Given the description of an element on the screen output the (x, y) to click on. 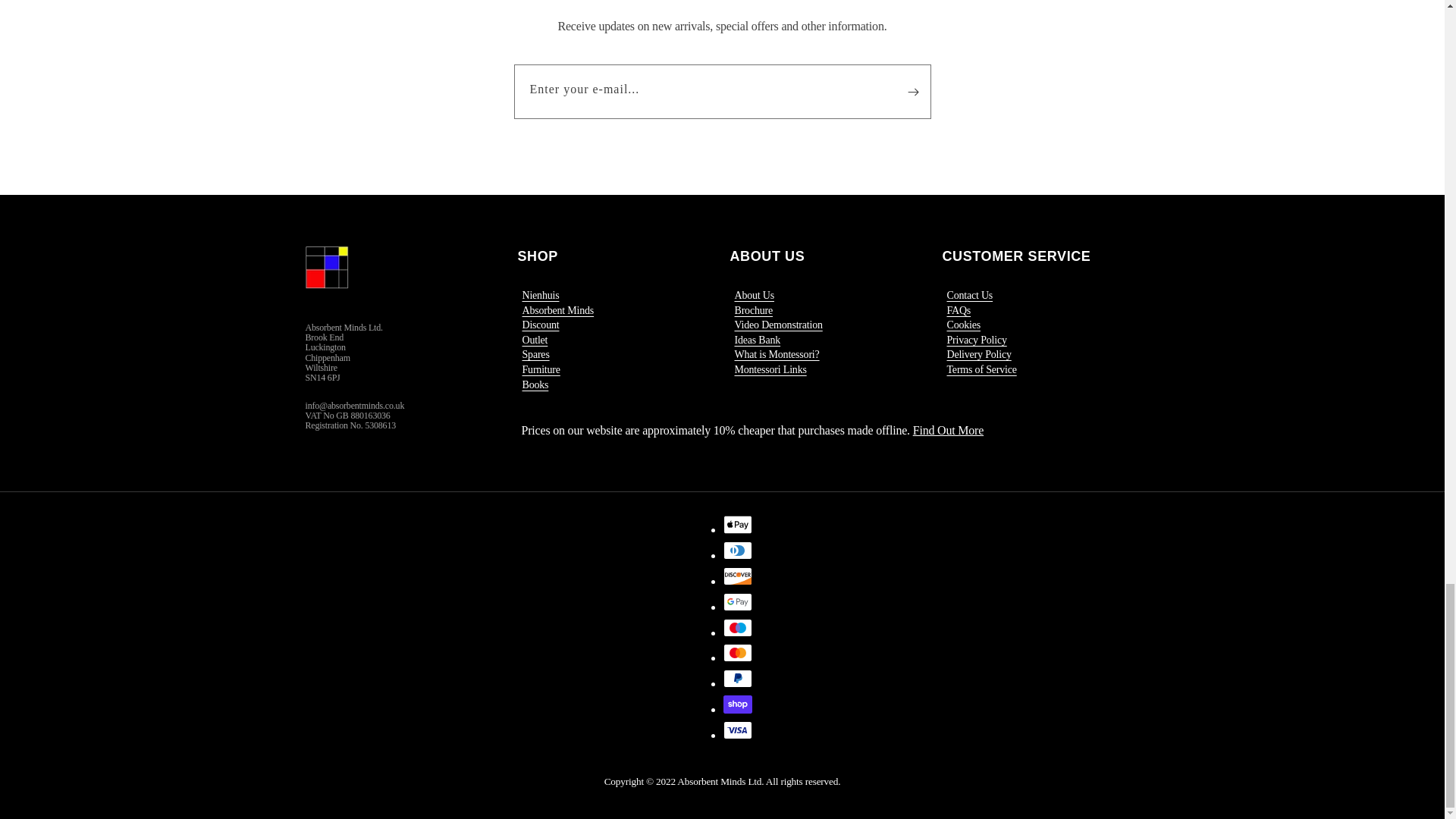
Our Best Prices are on the Website (948, 430)
Apple Pay (737, 524)
Diners Club (737, 550)
Discover (737, 576)
